Given the description of an element on the screen output the (x, y) to click on. 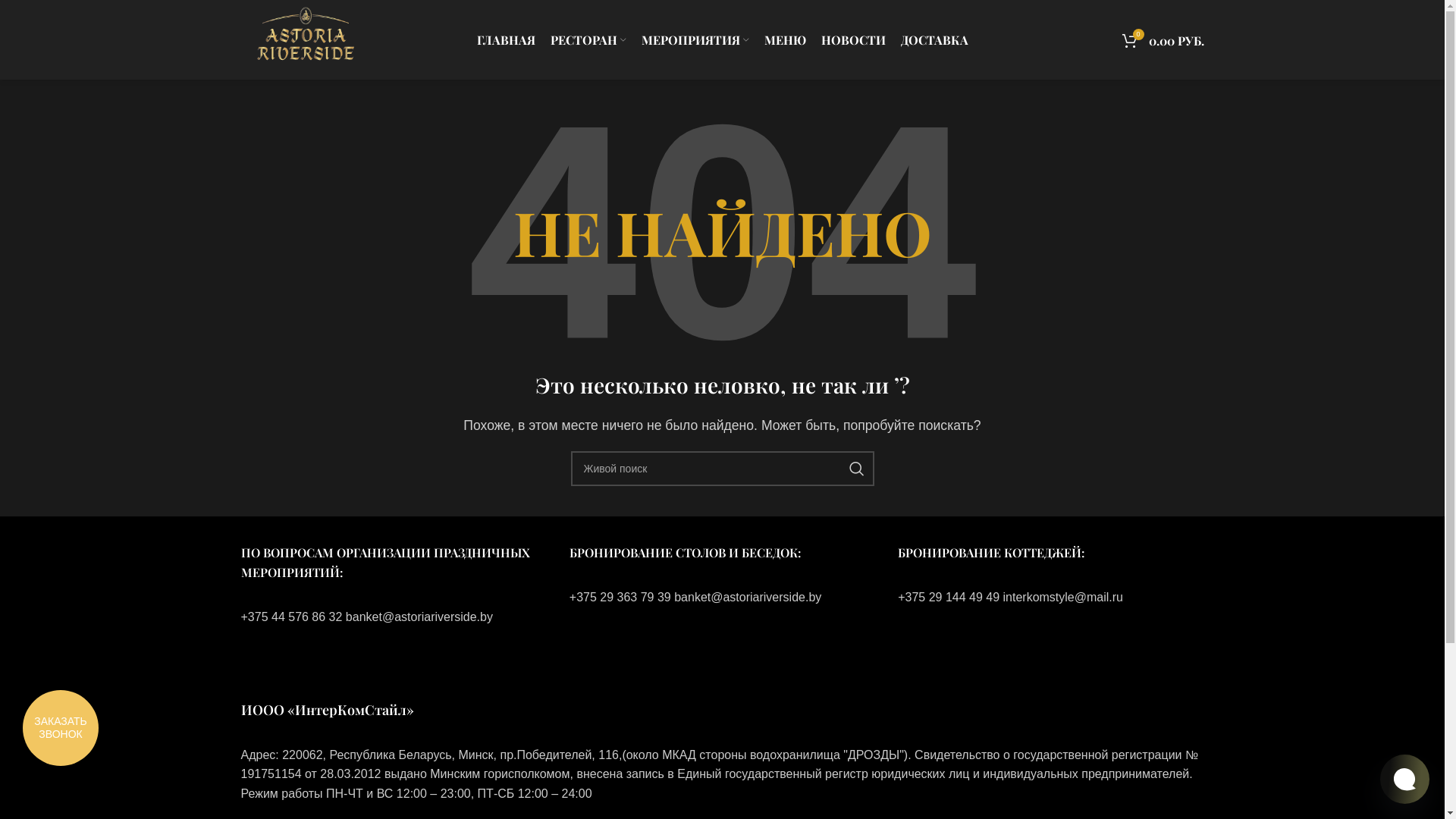
ASTORIA RIVERSIDE Element type: text (343, 781)
